Given the description of an element on the screen output the (x, y) to click on. 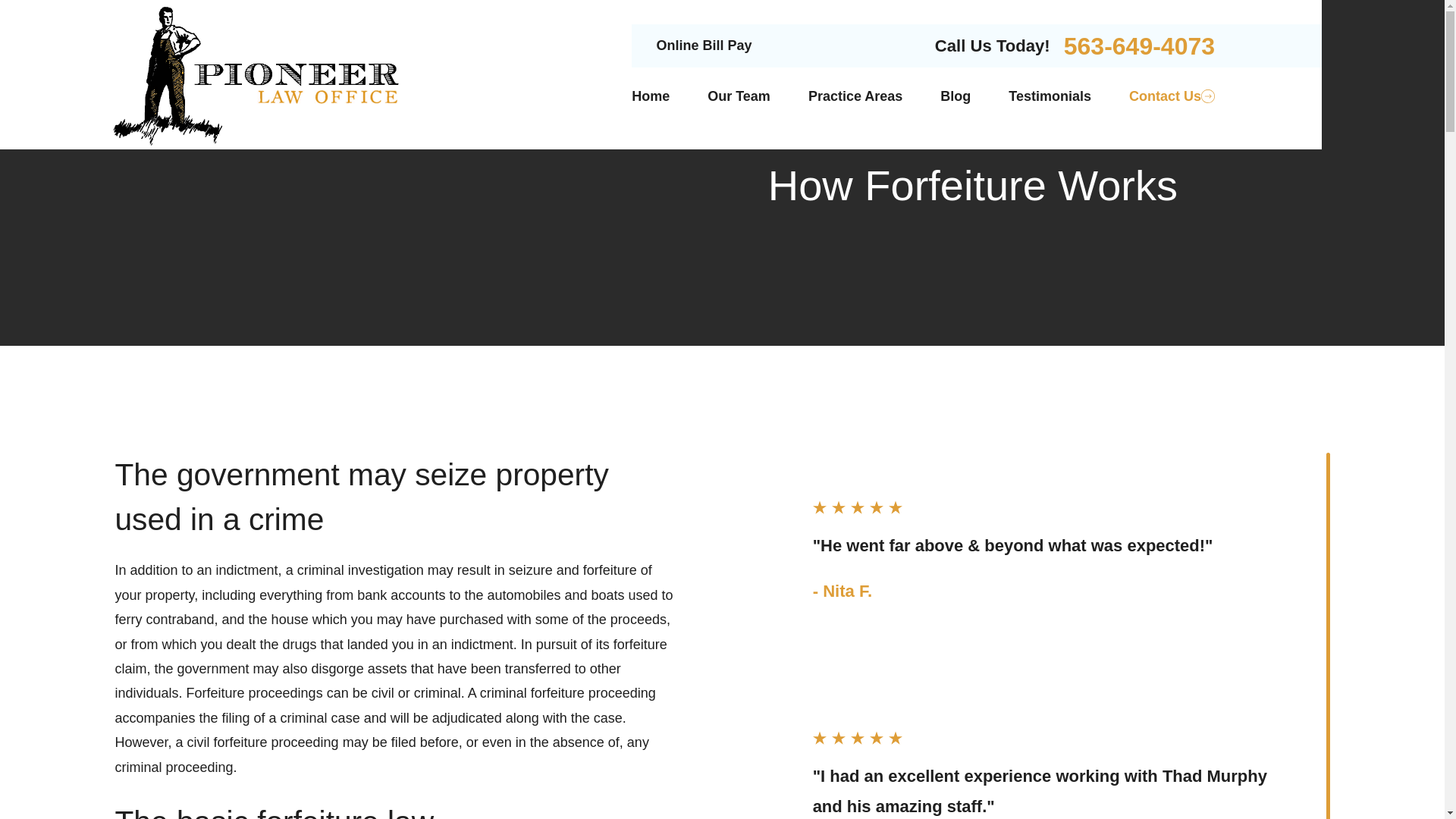
5 Star Rating (1046, 507)
Home (257, 74)
Online Bill Pay (704, 45)
Our Team (738, 95)
Practice Areas (855, 95)
Home (650, 95)
563-649-4073 (1139, 46)
5 Star Rating (1046, 737)
